Given the description of an element on the screen output the (x, y) to click on. 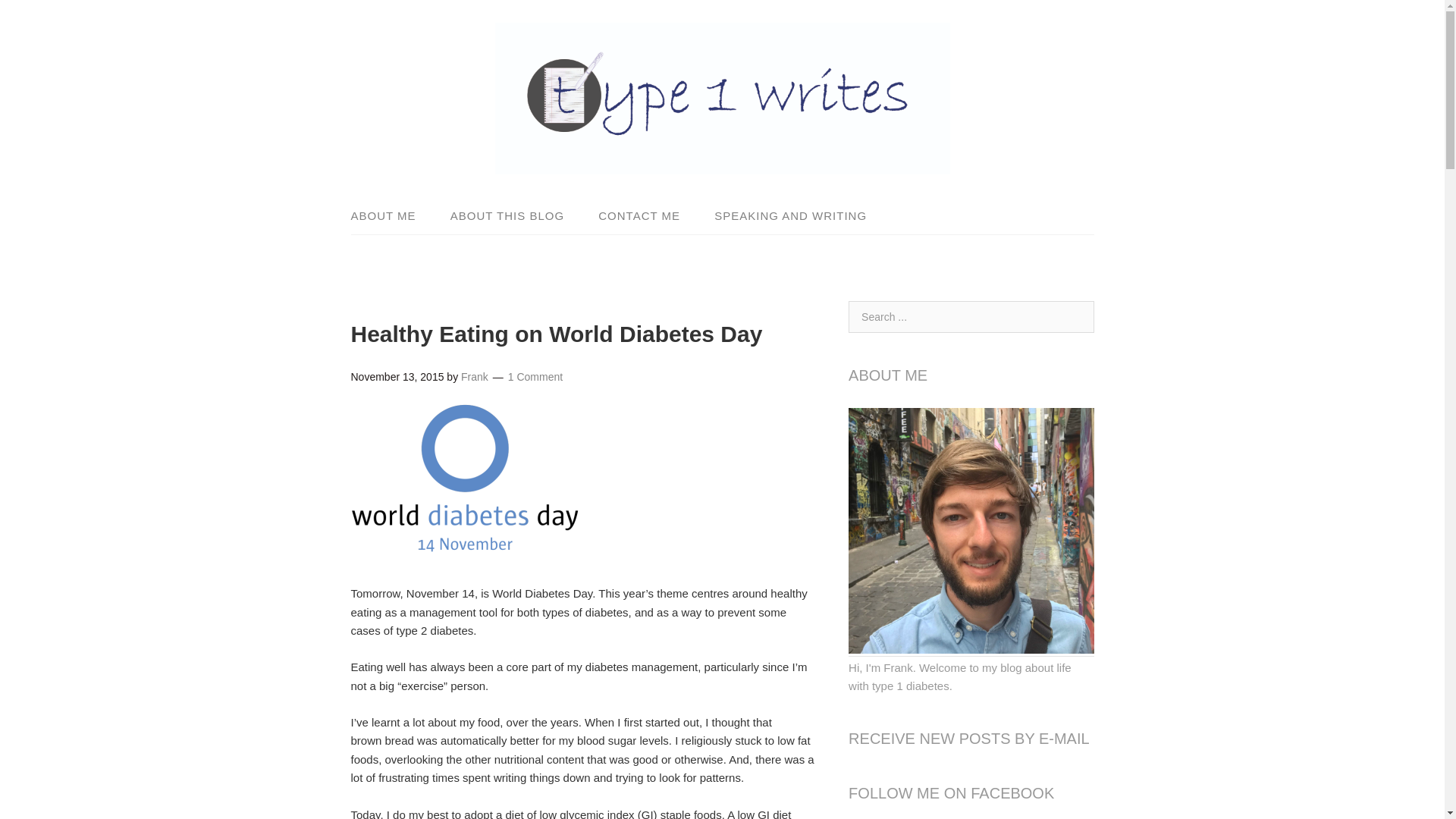
Type 1 Writes - Diabetes Blog (722, 161)
SPEAKING AND WRITING (782, 215)
Posts by Frank (474, 377)
Frank (474, 377)
CONTACT ME (639, 215)
ABOUT ME (390, 215)
1 Comment (535, 377)
Search for: (970, 316)
ABOUT THIS BLOG (507, 215)
Friday, November 13, 2015, 6:00 am (397, 377)
